Given the description of an element on the screen output the (x, y) to click on. 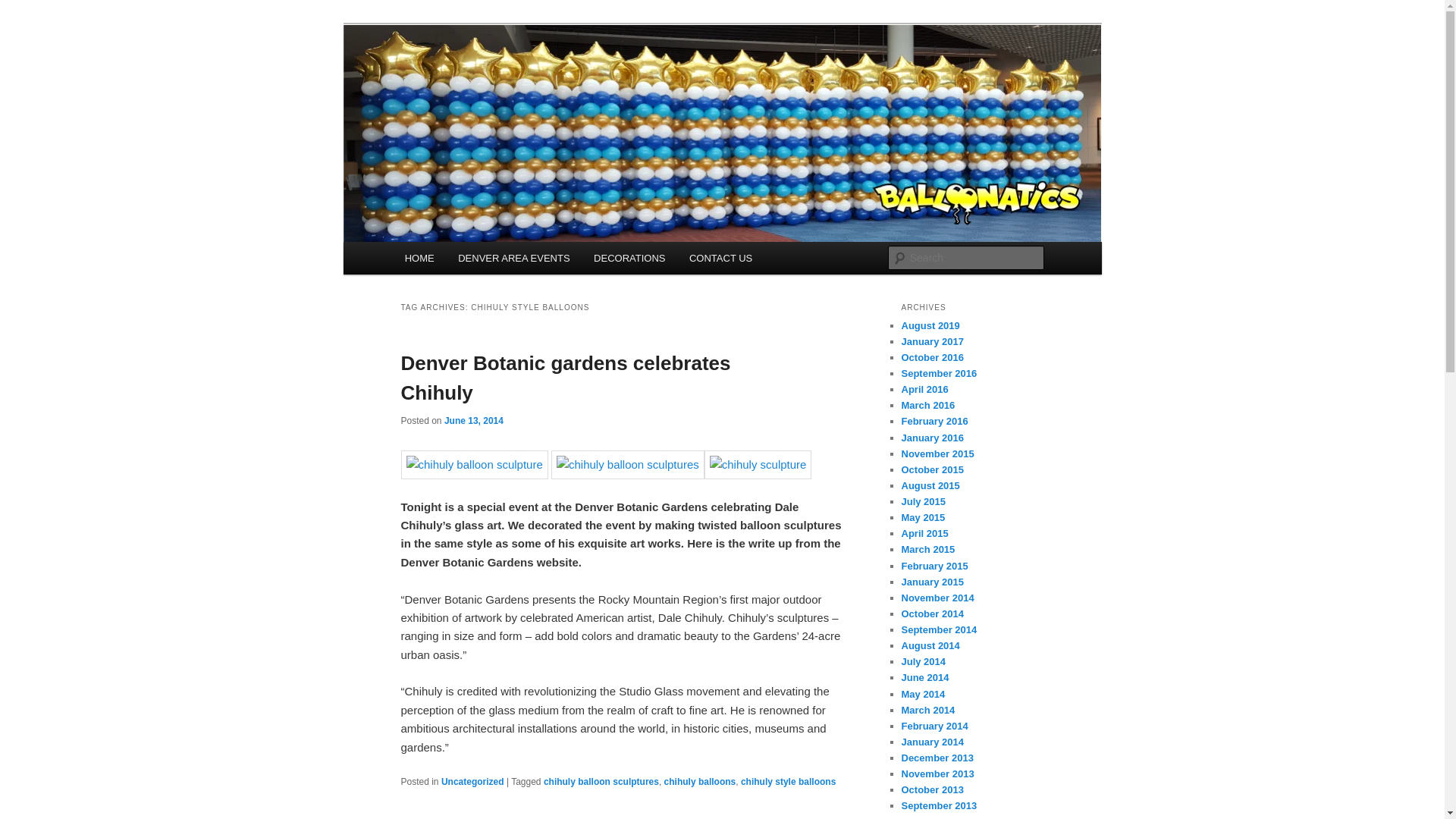
Search (24, 8)
June 13, 2014 (473, 420)
HOME (419, 257)
DENVER AREA EVENTS (512, 257)
August 2019 (930, 325)
Denver Botanic gardens celebrates Chihuly (565, 378)
DECORATIONS (628, 257)
Balloons-Denver.com (516, 78)
2:10 pm (473, 420)
January 2017 (931, 341)
